Given the description of an element on the screen output the (x, y) to click on. 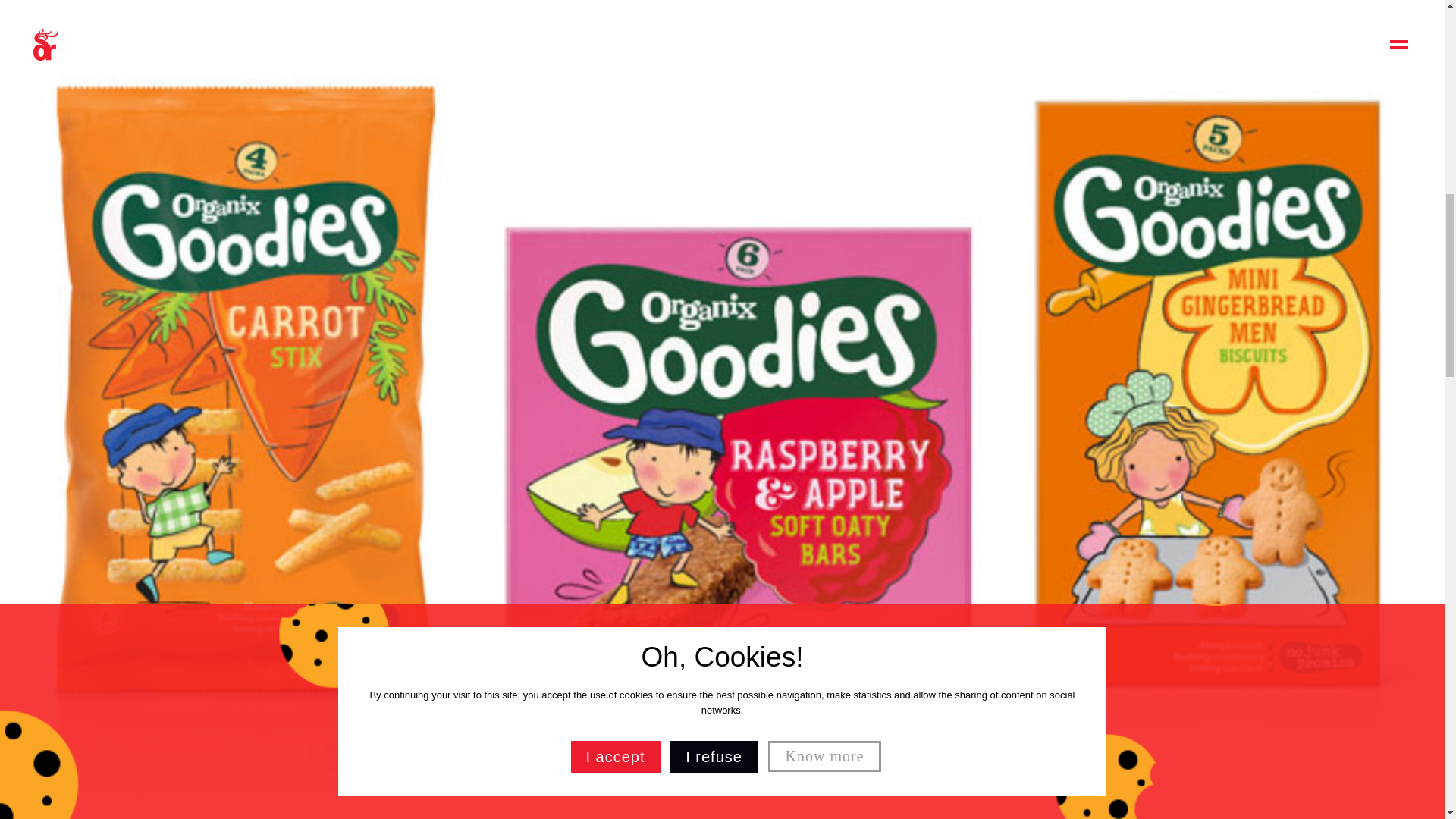
VIEW PROJECT (452, 600)
